Given the description of an element on the screen output the (x, y) to click on. 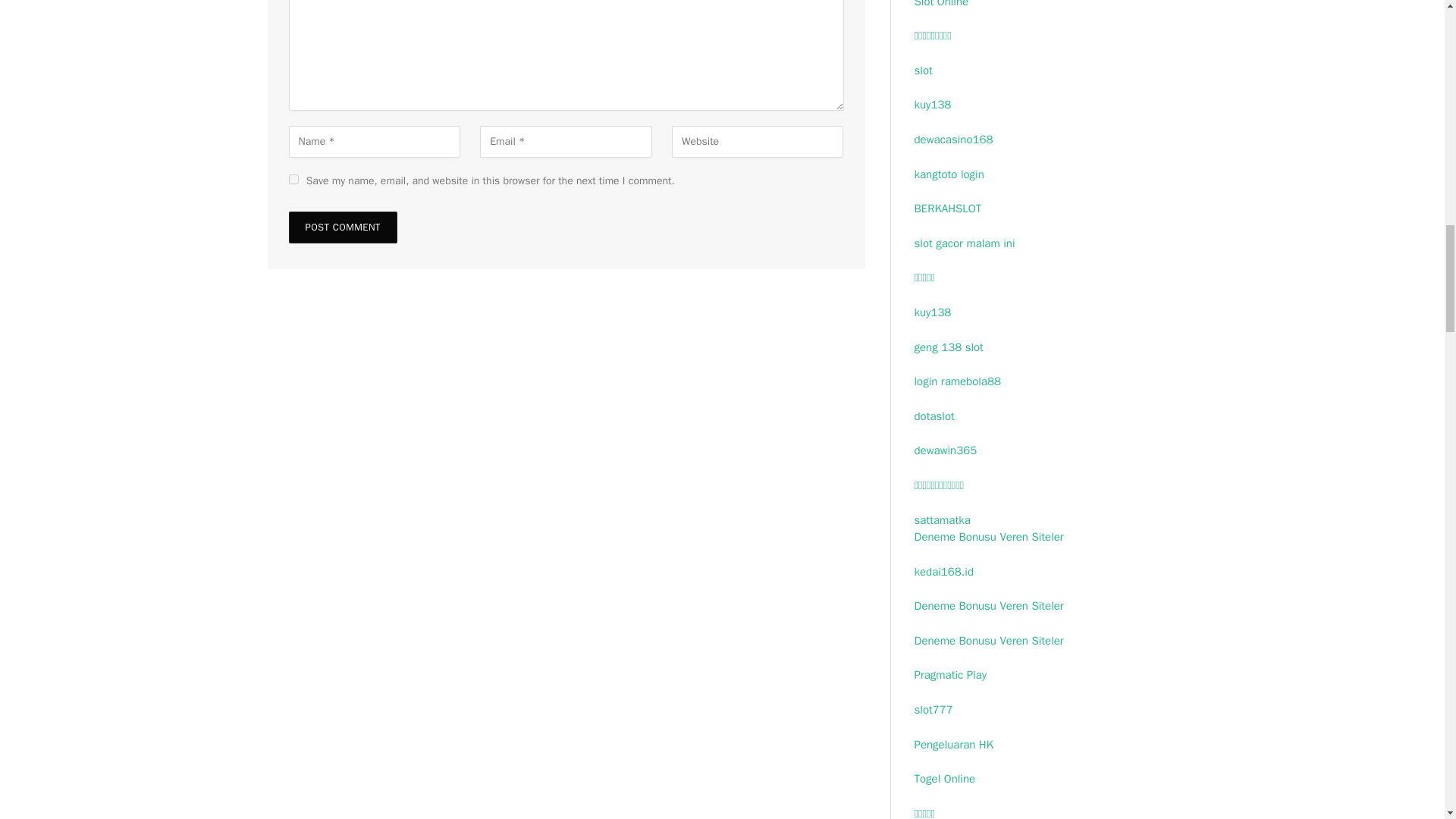
Post Comment (342, 227)
Post Comment (342, 227)
yes (293, 179)
